Given the description of an element on the screen output the (x, y) to click on. 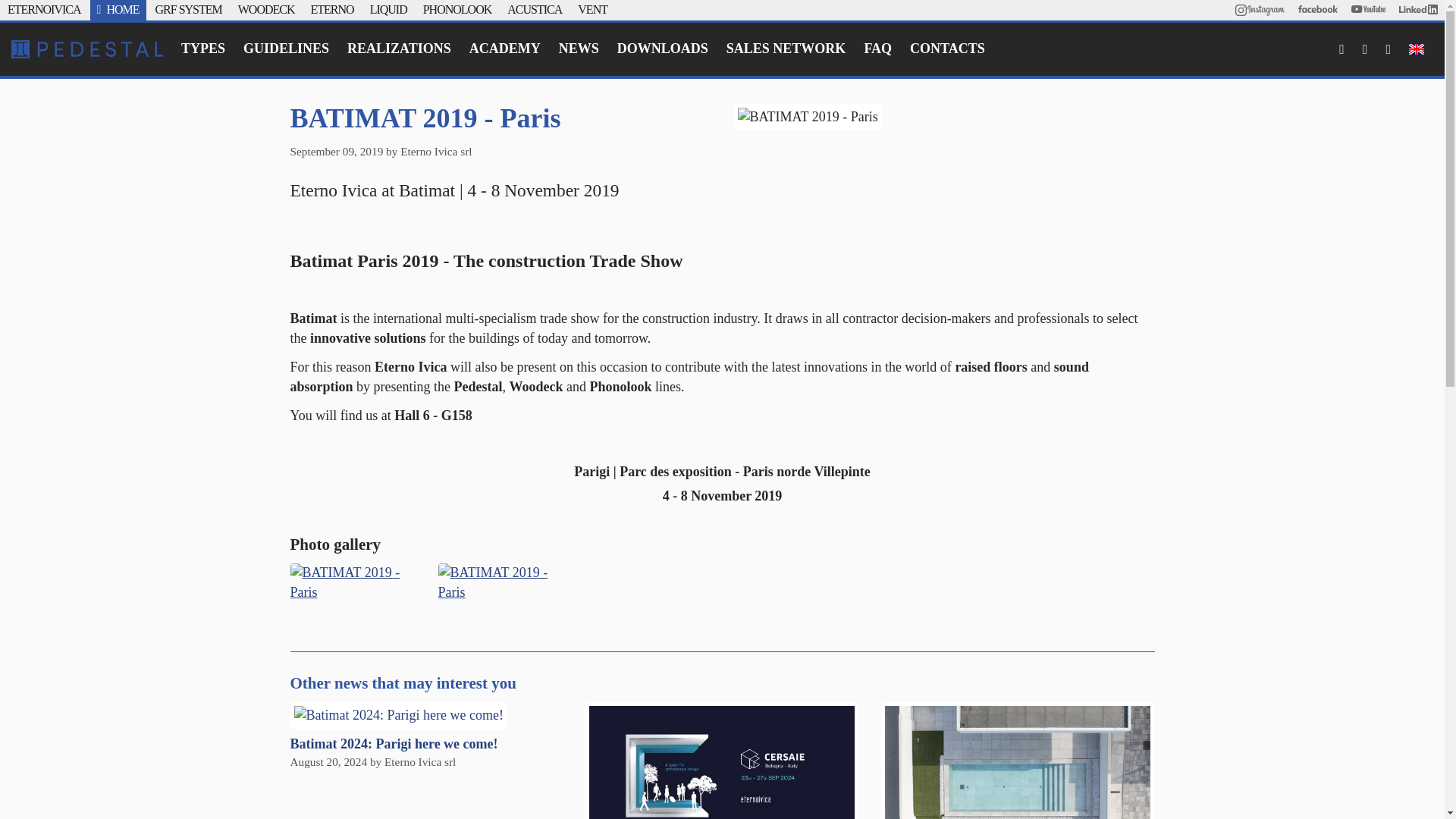
CONTACTS (947, 49)
LIQUID (388, 9)
VENT (592, 9)
BATIMAT 2019 - Paris (500, 582)
GUIDELINES (285, 49)
PHONOLOOK (457, 9)
DOWNLOADS (662, 49)
ACADEMY (505, 49)
BATIMAT 2019 - Paris (351, 582)
WOODECK (266, 9)
